Given the description of an element on the screen output the (x, y) to click on. 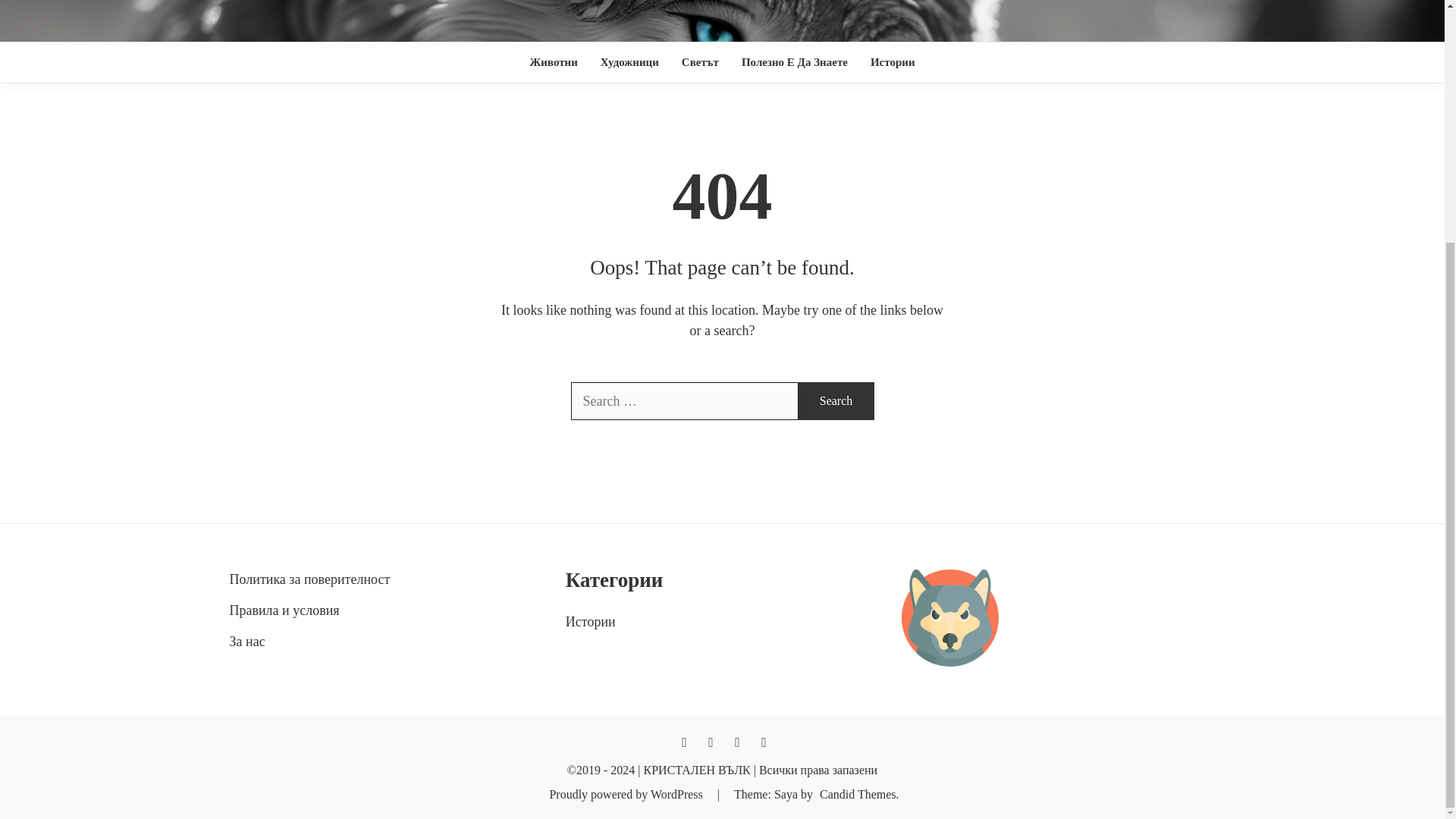
LinkedIn (763, 742)
Search (835, 401)
Search (835, 401)
Instagram (737, 742)
Search (835, 401)
Facebook (683, 742)
Proudly powered by WordPress (626, 793)
X (710, 742)
Candid Themes (857, 793)
